Given the description of an element on the screen output the (x, y) to click on. 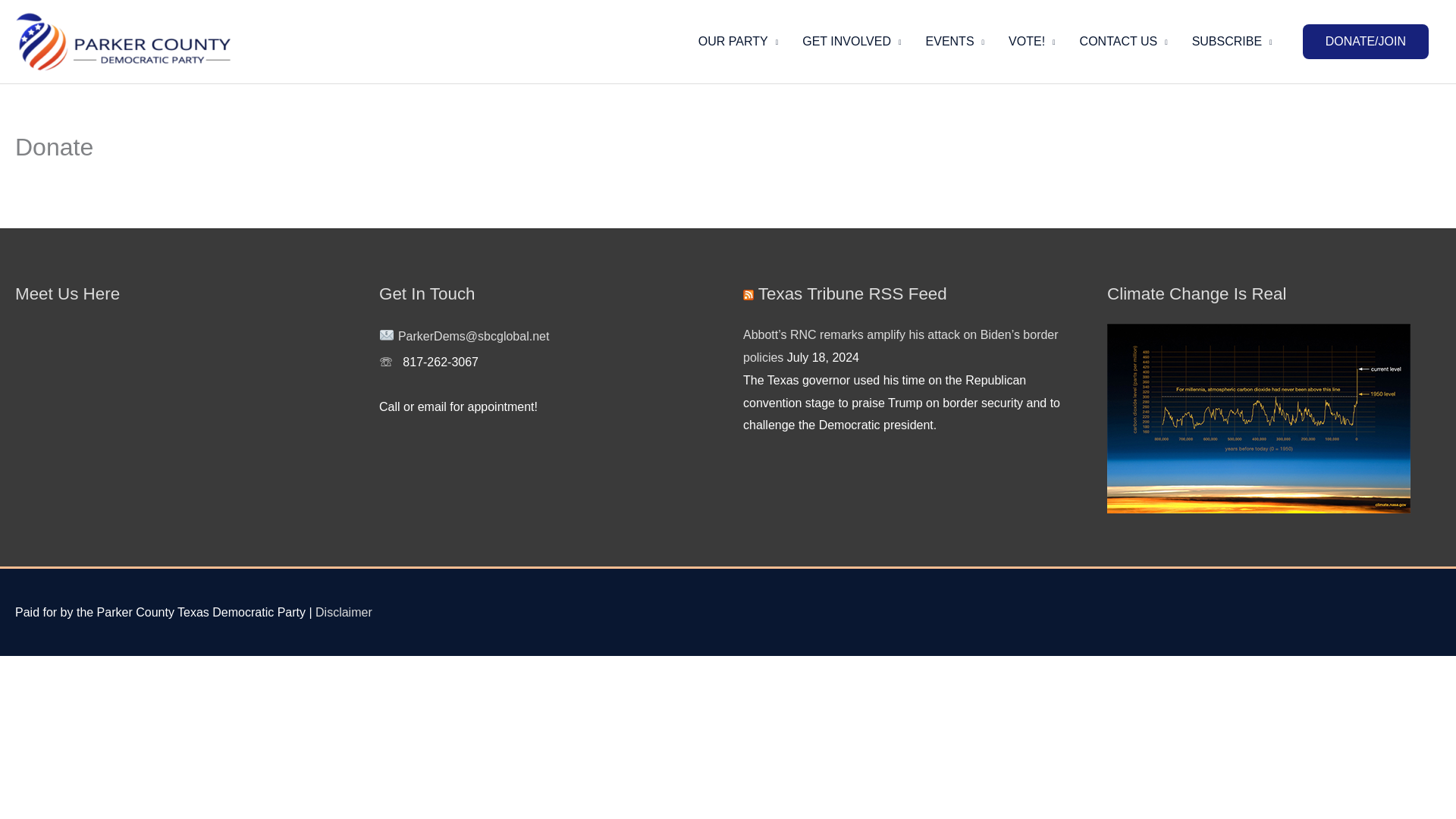
OUR PARTY (737, 41)
EVENTS (955, 41)
GET INVOLVED (851, 41)
